Given the description of an element on the screen output the (x, y) to click on. 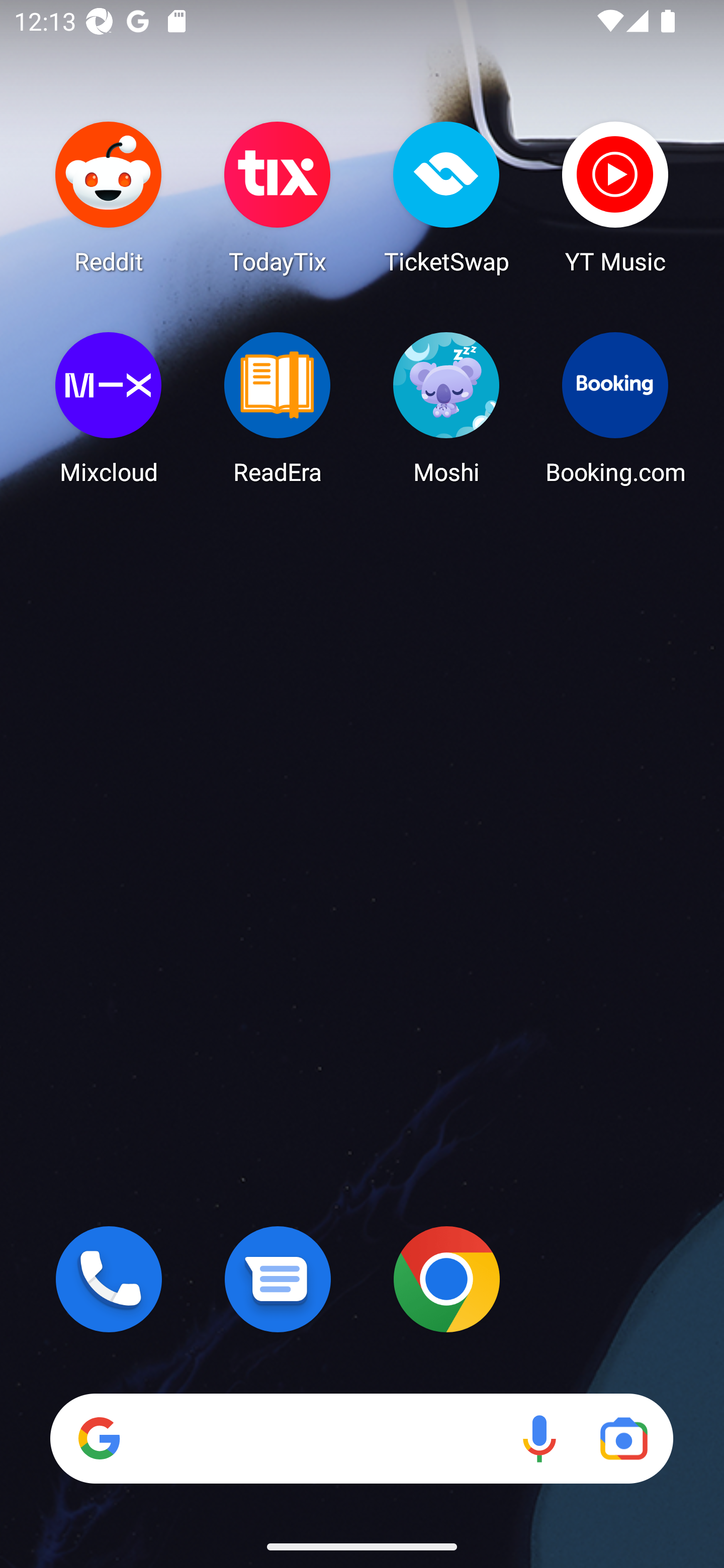
Reddit (108, 196)
TodayTix (277, 196)
TicketSwap (445, 196)
YT Music (615, 196)
Mixcloud (108, 407)
ReadEra (277, 407)
Moshi (445, 407)
Booking.com (615, 407)
Phone (108, 1279)
Messages (277, 1279)
Chrome (446, 1279)
Search Voice search Google Lens (361, 1438)
Voice search (539, 1438)
Google Lens (623, 1438)
